Given the description of an element on the screen output the (x, y) to click on. 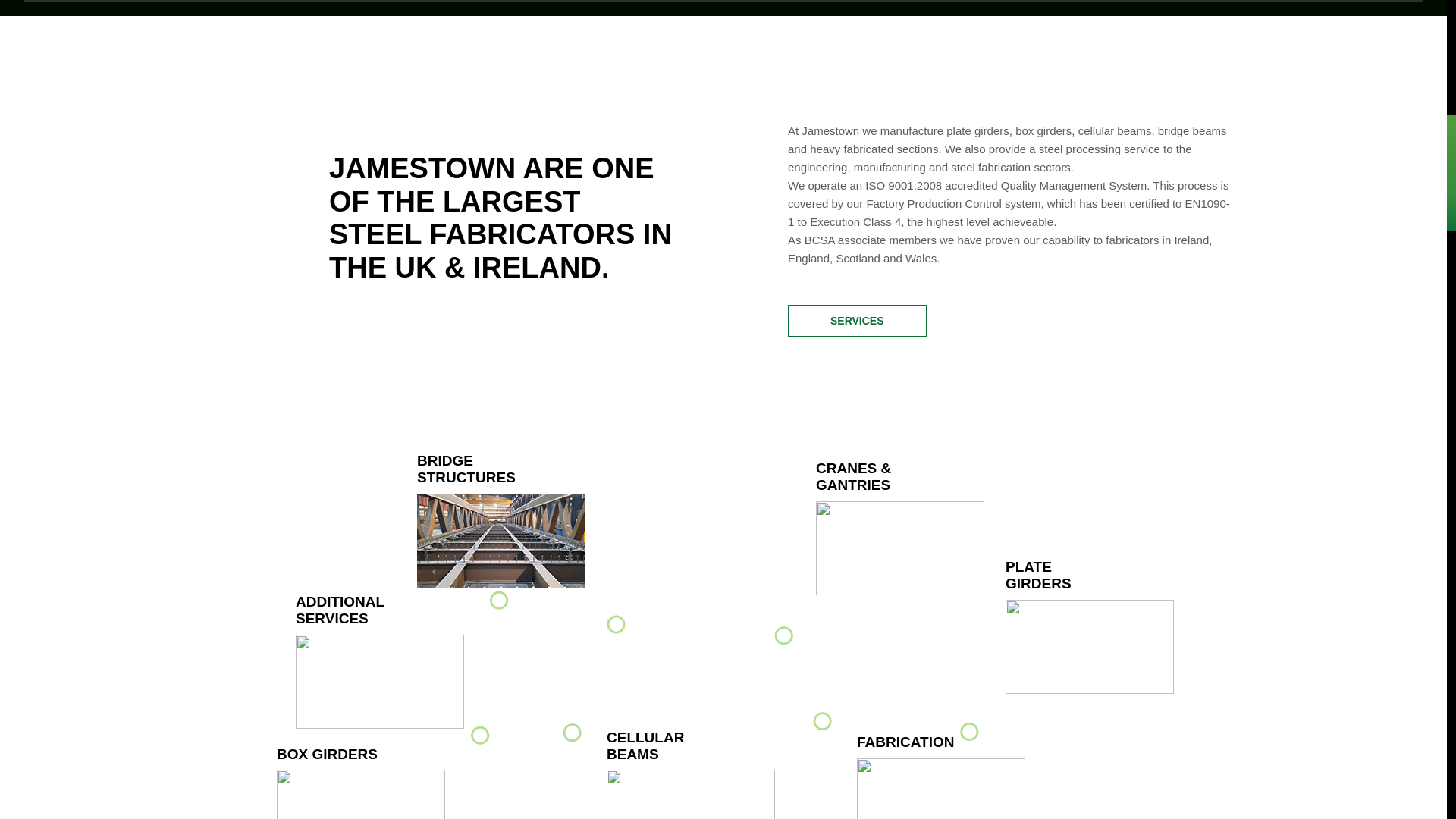
SERVICES (856, 320)
